Given the description of an element on the screen output the (x, y) to click on. 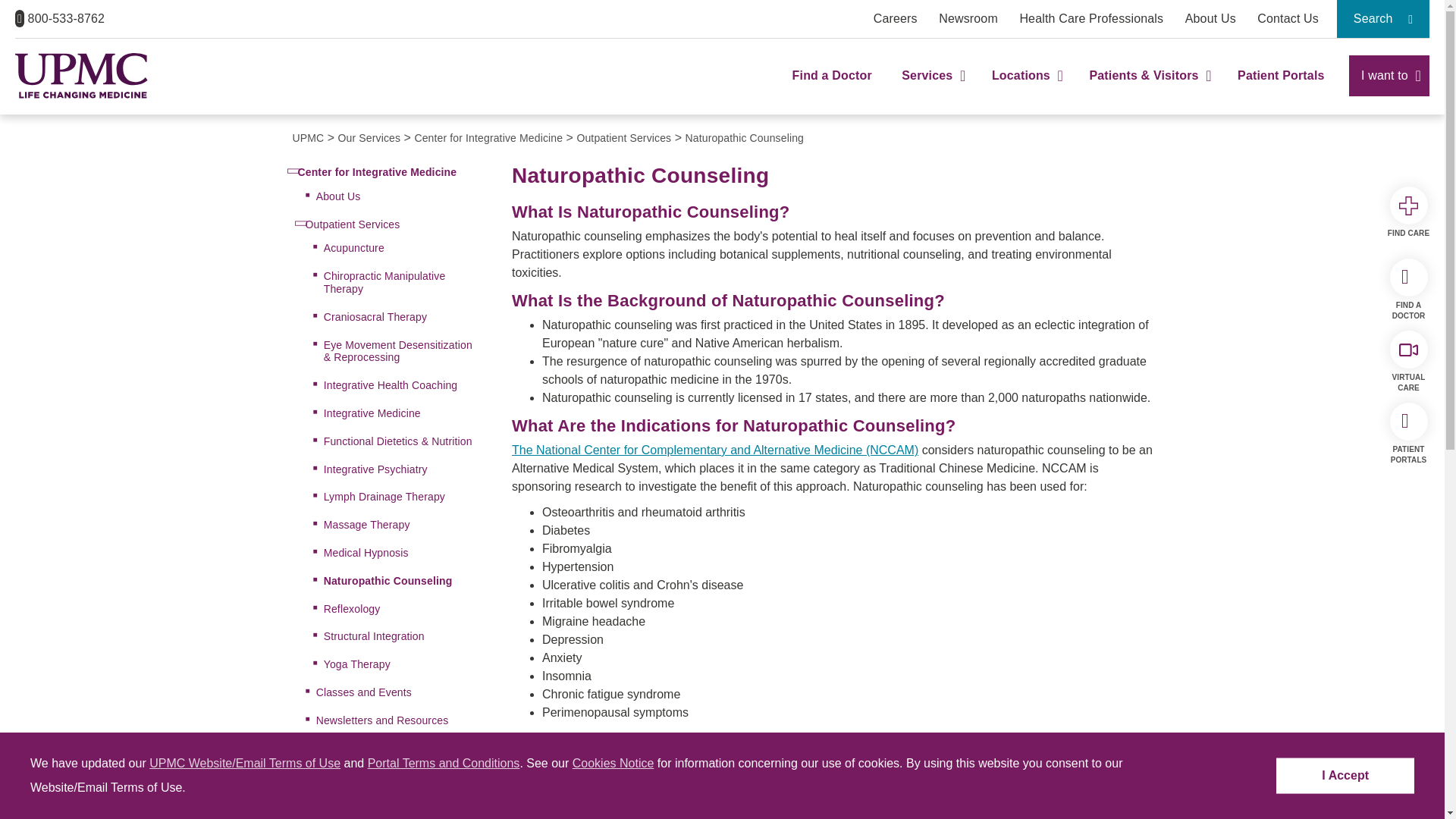
Health Care Professionals (1091, 18)
Learn more about careers and job openings at UPMC. (895, 18)
I Accept (1344, 775)
Contact Us (1288, 18)
Contact UPMC (1288, 18)
Find a Doctor (832, 89)
Services (930, 89)
Search (1382, 18)
Careers (895, 18)
800-533-8762 (59, 18)
Cookies Notice (612, 762)
About Us (1210, 18)
UPMC (81, 75)
Newsroom (968, 18)
Portal Terms and Conditions (443, 762)
